Given the description of an element on the screen output the (x, y) to click on. 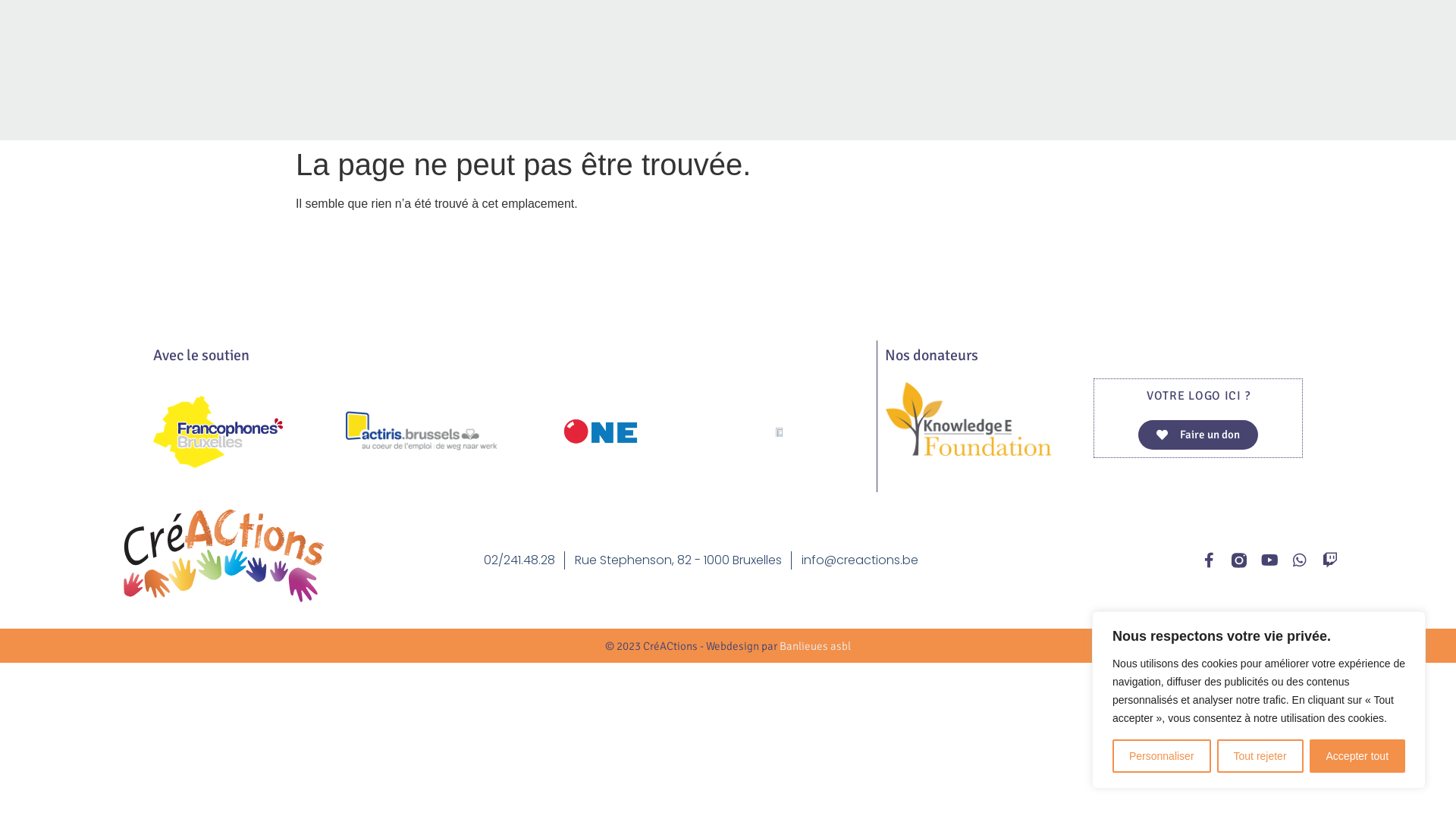
Personnaliser Element type: text (1161, 755)
Tout rejeter Element type: text (1260, 755)
Accepter tout Element type: text (1357, 755)
Banlieues asbl Element type: text (814, 645)
Faire un don Element type: text (1198, 434)
02/241.48.28 Element type: text (519, 560)
